Given the description of an element on the screen output the (x, y) to click on. 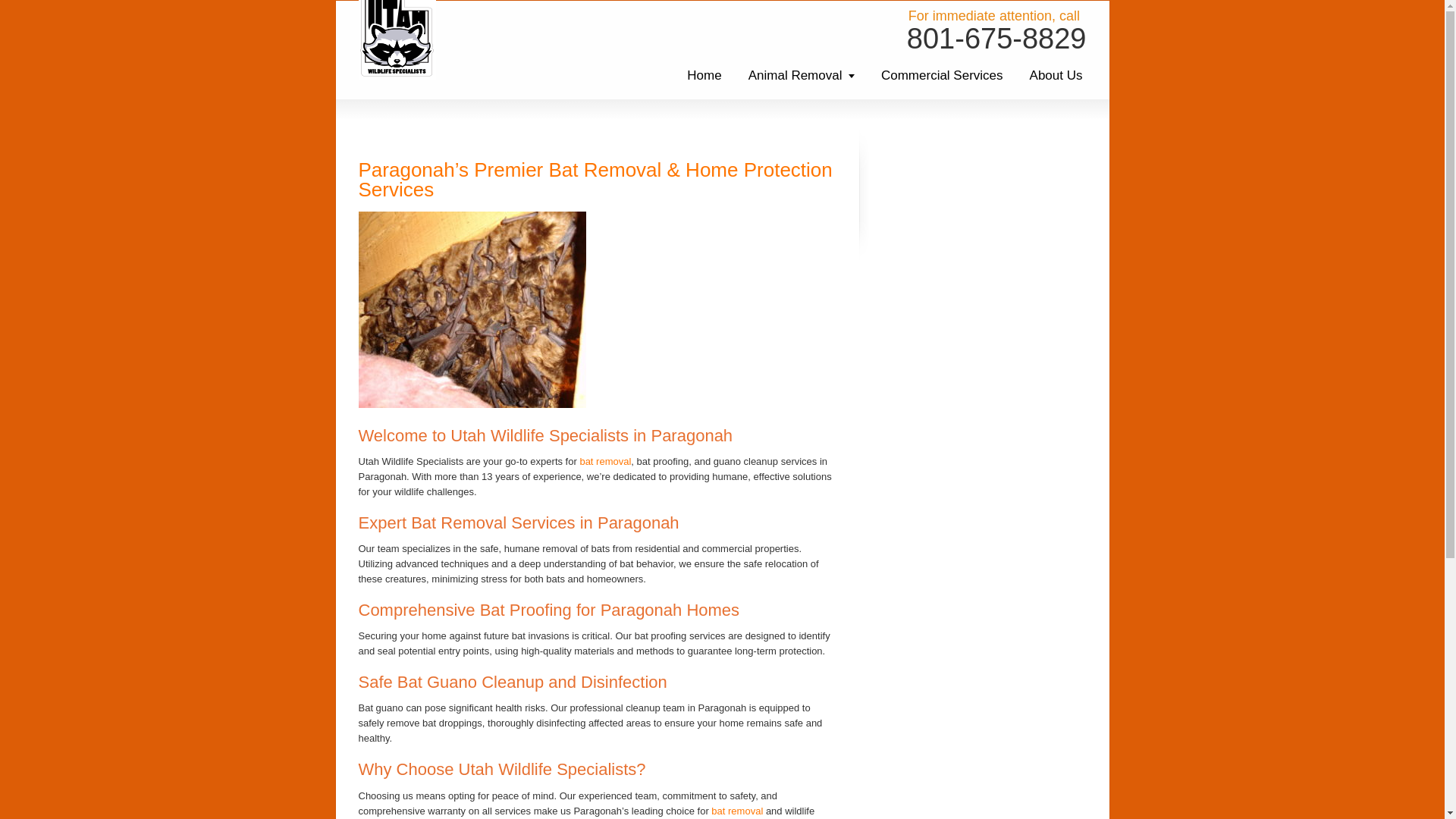
bat removal (604, 460)
Commercial Services (941, 75)
bat removal (736, 810)
Animal Removal (801, 75)
Home (703, 75)
About Us (1055, 75)
